Given the description of an element on the screen output the (x, y) to click on. 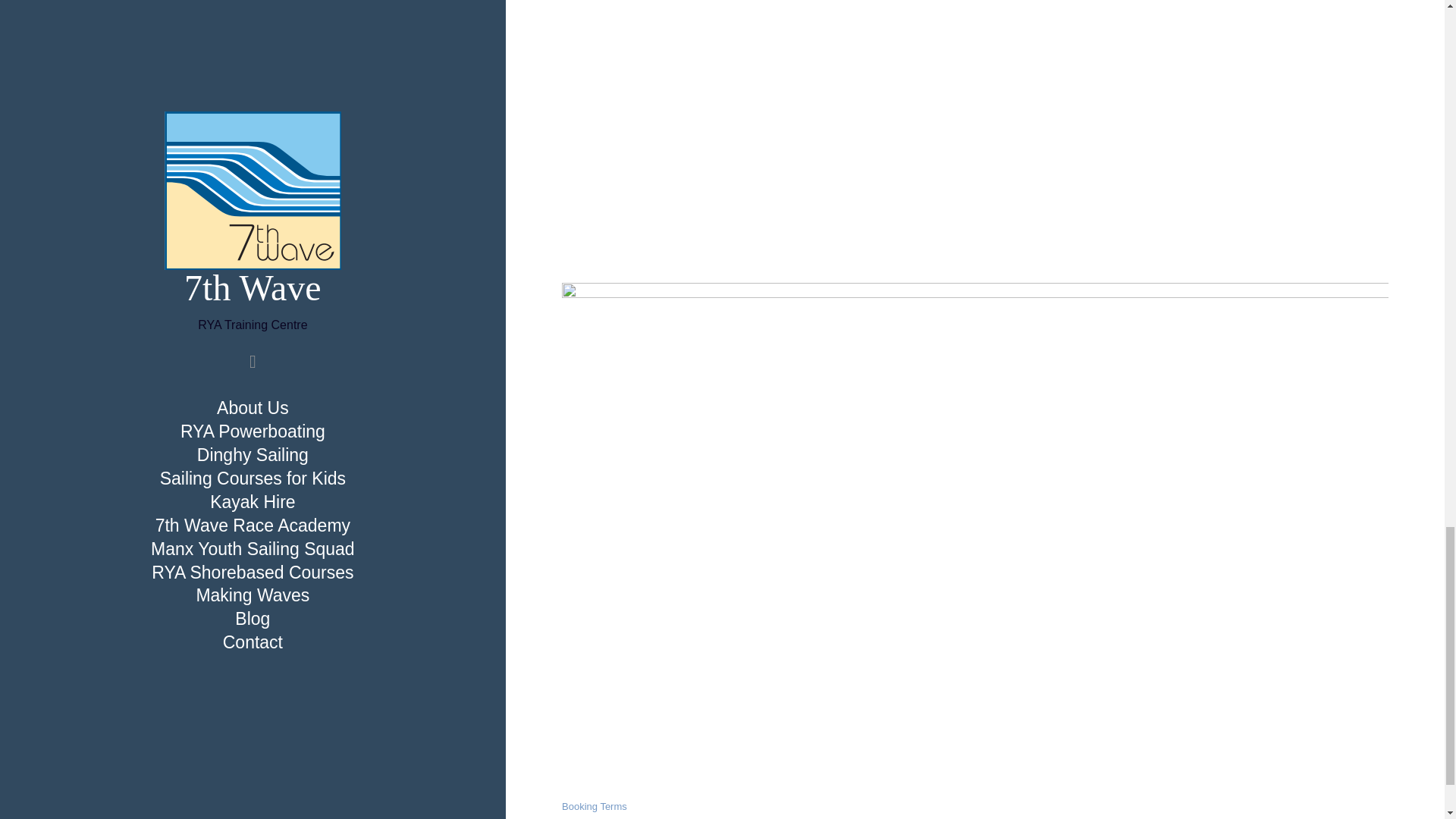
Booking Terms (594, 806)
